Given the description of an element on the screen output the (x, y) to click on. 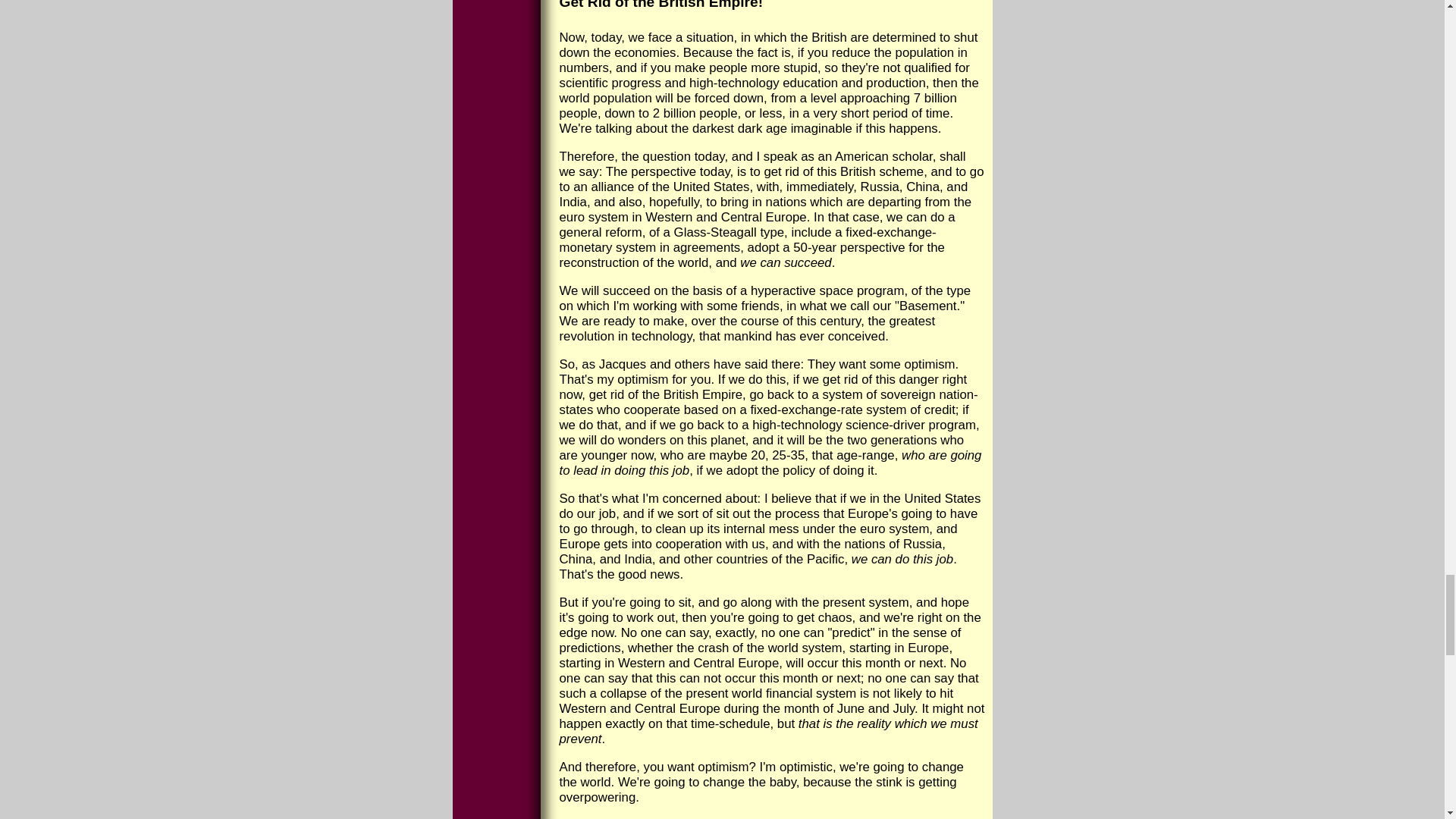
Back to top (591, 818)
